Given the description of an element on the screen output the (x, y) to click on. 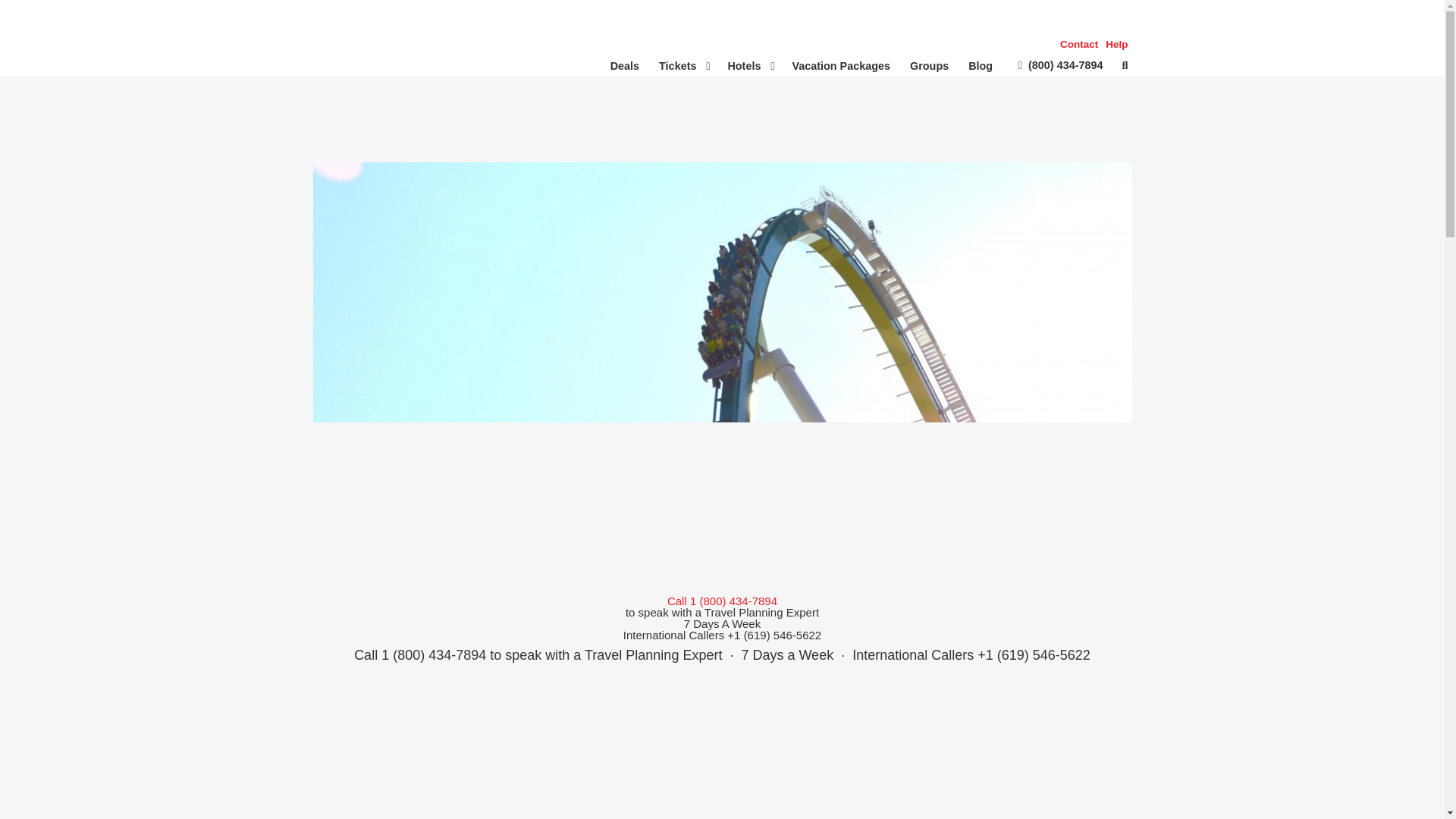
Blog (980, 65)
Contact (1079, 44)
Help (1116, 44)
Deals (624, 65)
Vacation Packages (840, 65)
Hotels (749, 65)
Groups (1094, 44)
